Given the description of an element on the screen output the (x, y) to click on. 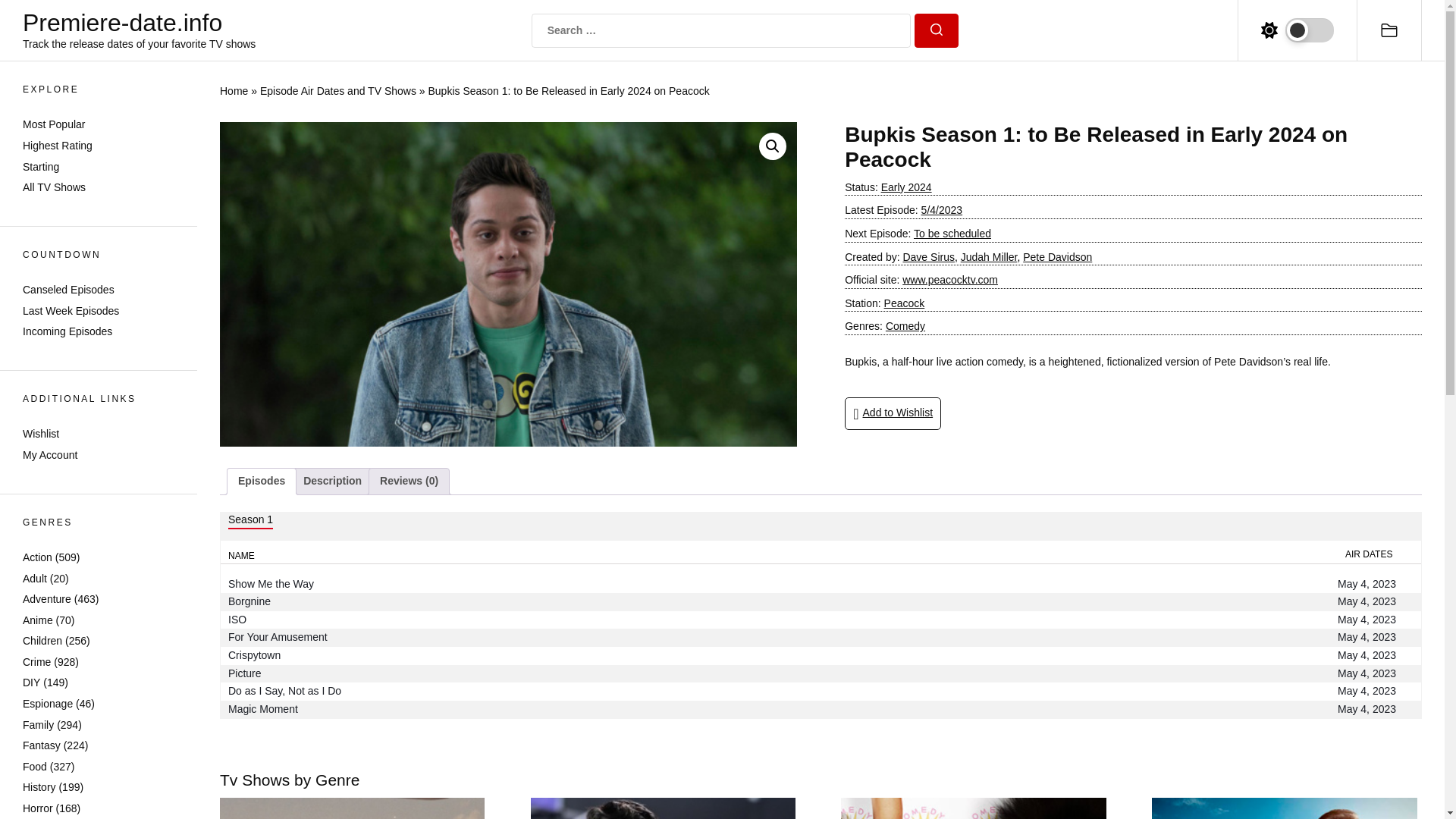
Starting (41, 166)
Most Popular (53, 123)
Horror (37, 808)
Fantasy (42, 745)
Search (936, 30)
Premiere-date.info (139, 22)
Wishlist (41, 433)
All TV Shows (54, 186)
Highest Rating (58, 145)
Adventure (47, 598)
Action (37, 557)
Family (38, 725)
Children (42, 640)
Last Week Episodes (71, 310)
